Given the description of an element on the screen output the (x, y) to click on. 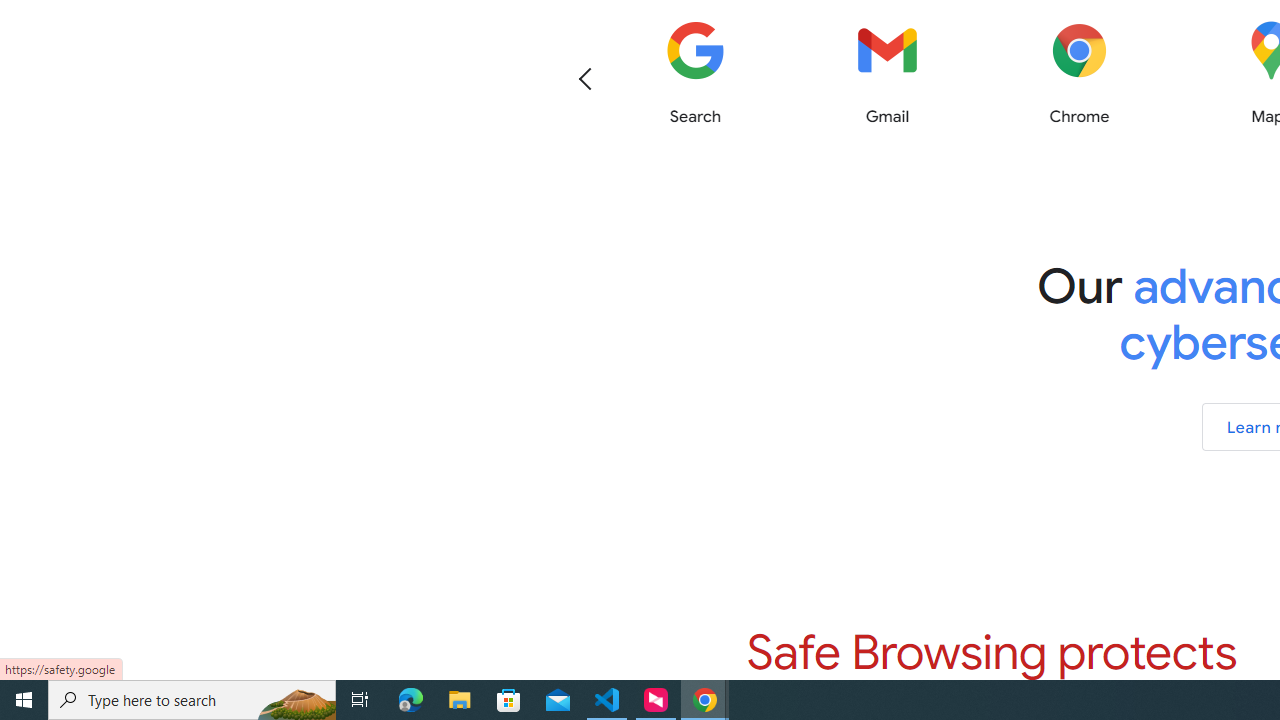
Previous (585, 78)
